Given the description of an element on the screen output the (x, y) to click on. 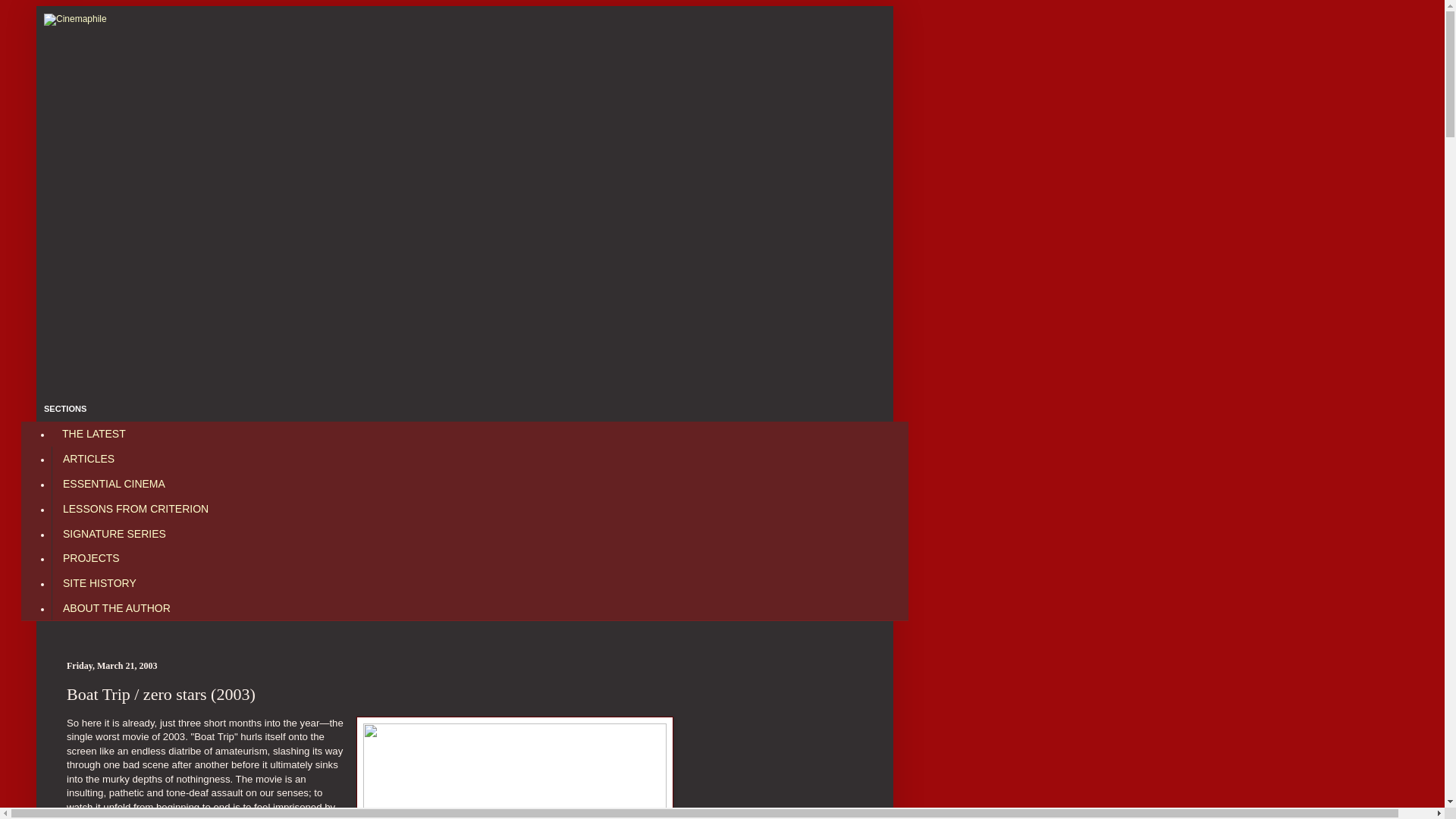
ABOUT THE AUTHOR (115, 607)
THE LATEST (93, 433)
LESSONS FROM CRITERION (134, 508)
ARTICLES (87, 458)
PROJECTS (90, 558)
SITE HISTORY (98, 583)
SIGNATURE SERIES (113, 533)
ESSENTIAL CINEMA (113, 483)
